Given the description of an element on the screen output the (x, y) to click on. 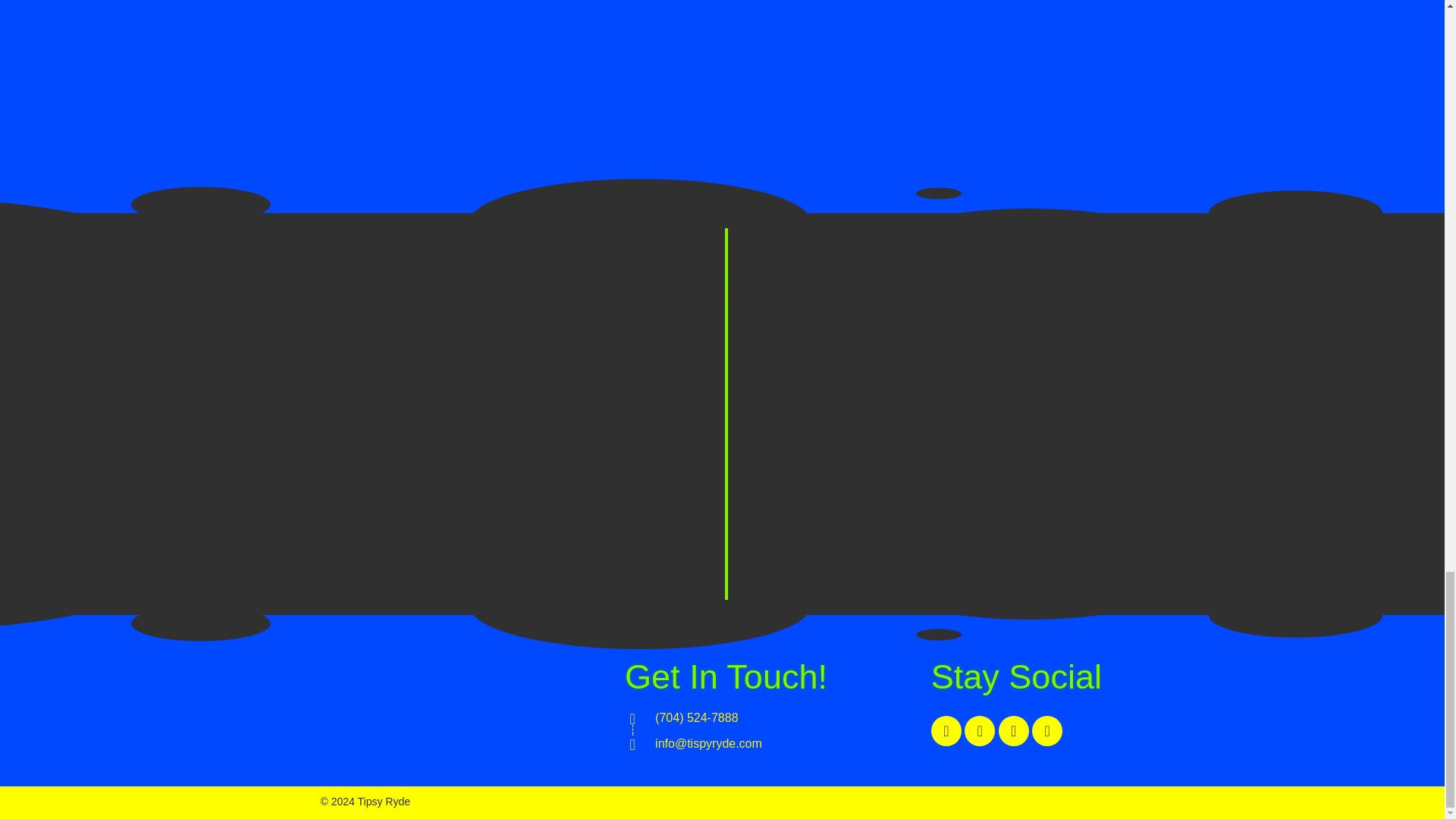
Submit (855, 549)
Instagram (1013, 730)
Facebook (945, 730)
Twitter (978, 730)
